Given the description of an element on the screen output the (x, y) to click on. 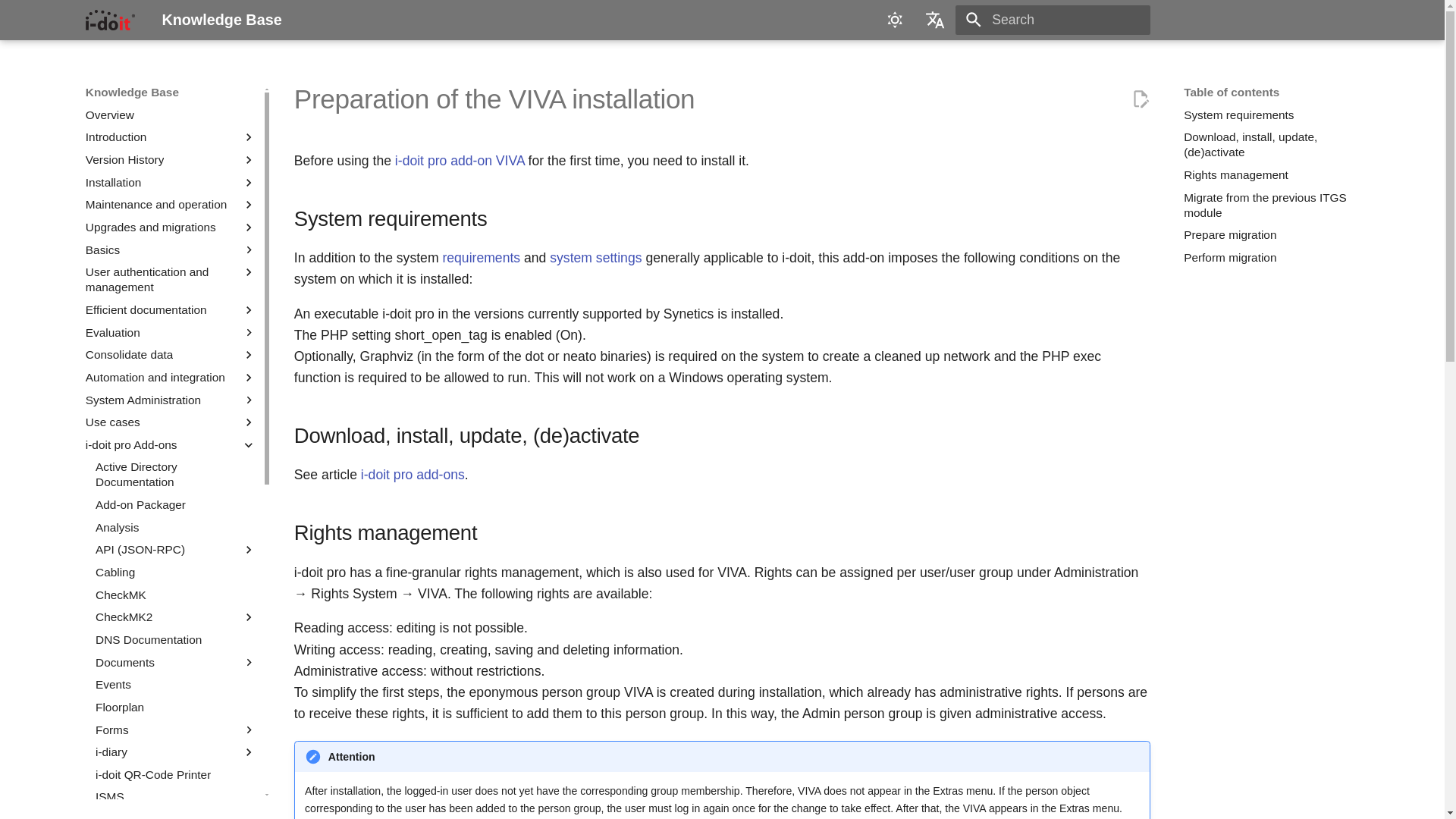
Version History (159, 159)
Overview (170, 114)
Knowledge Base (109, 19)
Introduction (159, 136)
Switch to dark mode (895, 19)
Edit this page (1140, 98)
